Given the description of an element on the screen output the (x, y) to click on. 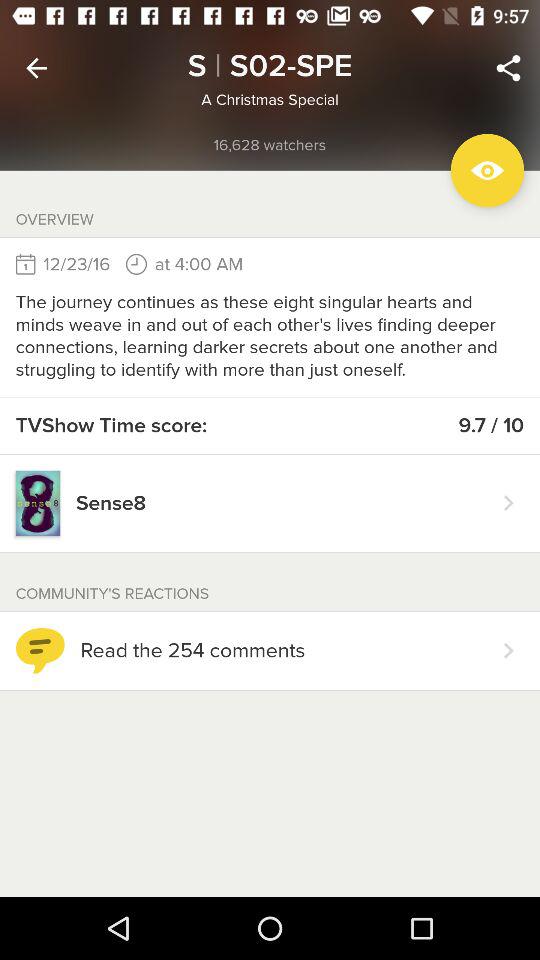
go to right of comments (508, 650)
click on the icon top right of the page (508, 68)
